Given the description of an element on the screen output the (x, y) to click on. 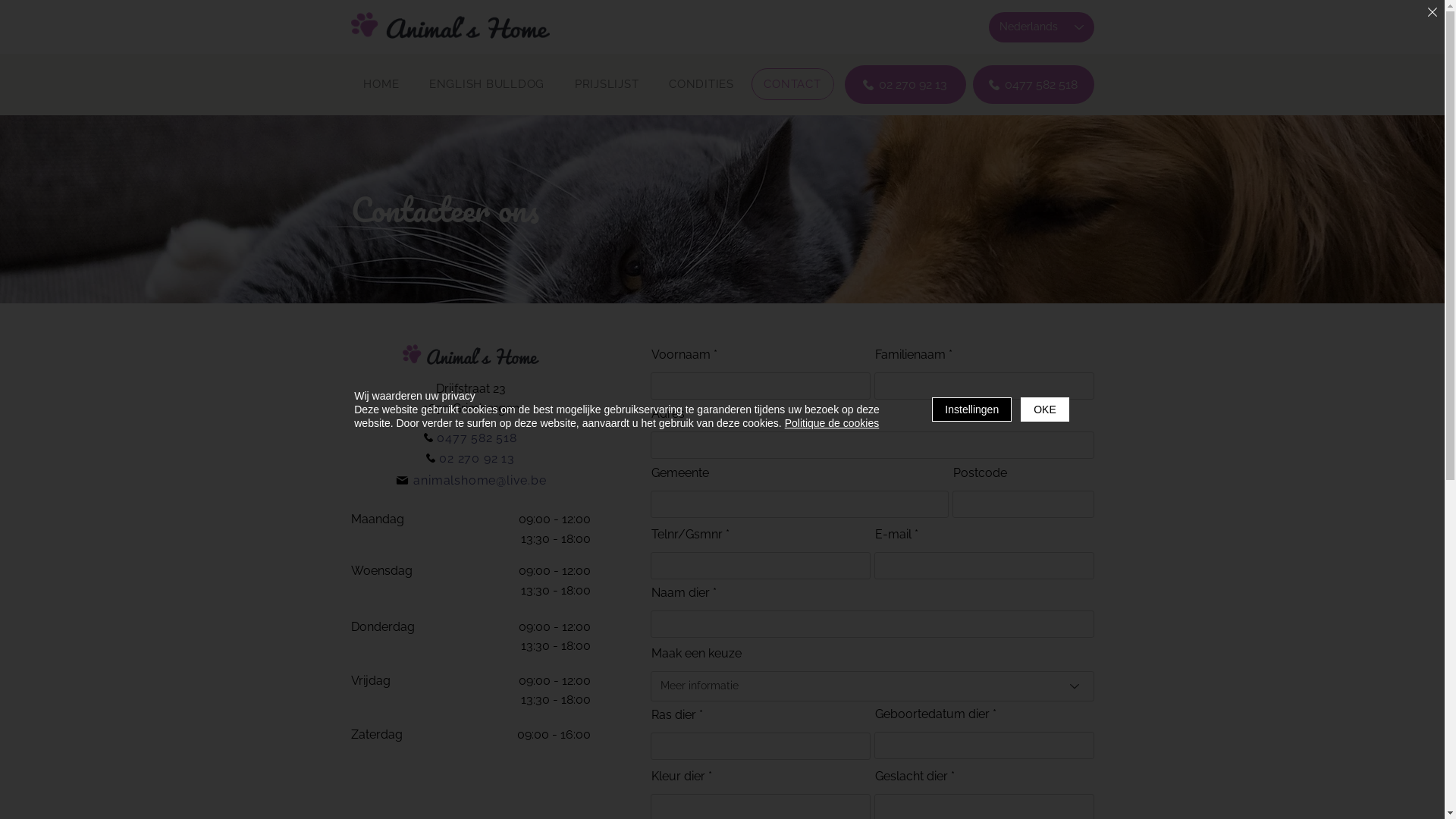
02 270 92 13 Element type: text (905, 84)
0477 582 518 Element type: text (1032, 84)
OKE Element type: text (1044, 409)
Instellingen Element type: text (971, 409)
CONTACT Element type: text (792, 84)
ENGLISH BULLDOG Element type: text (486, 84)
02 270 92 13 Element type: text (469, 457)
PRIJSLIJST Element type: text (606, 84)
Politique de cookies Element type: text (831, 423)
HOME Element type: text (380, 84)
0477 582 518 Element type: text (469, 437)
animalshome@live.be Element type: text (470, 479)
CONDITIES Element type: text (700, 84)
